Given the description of an element on the screen output the (x, y) to click on. 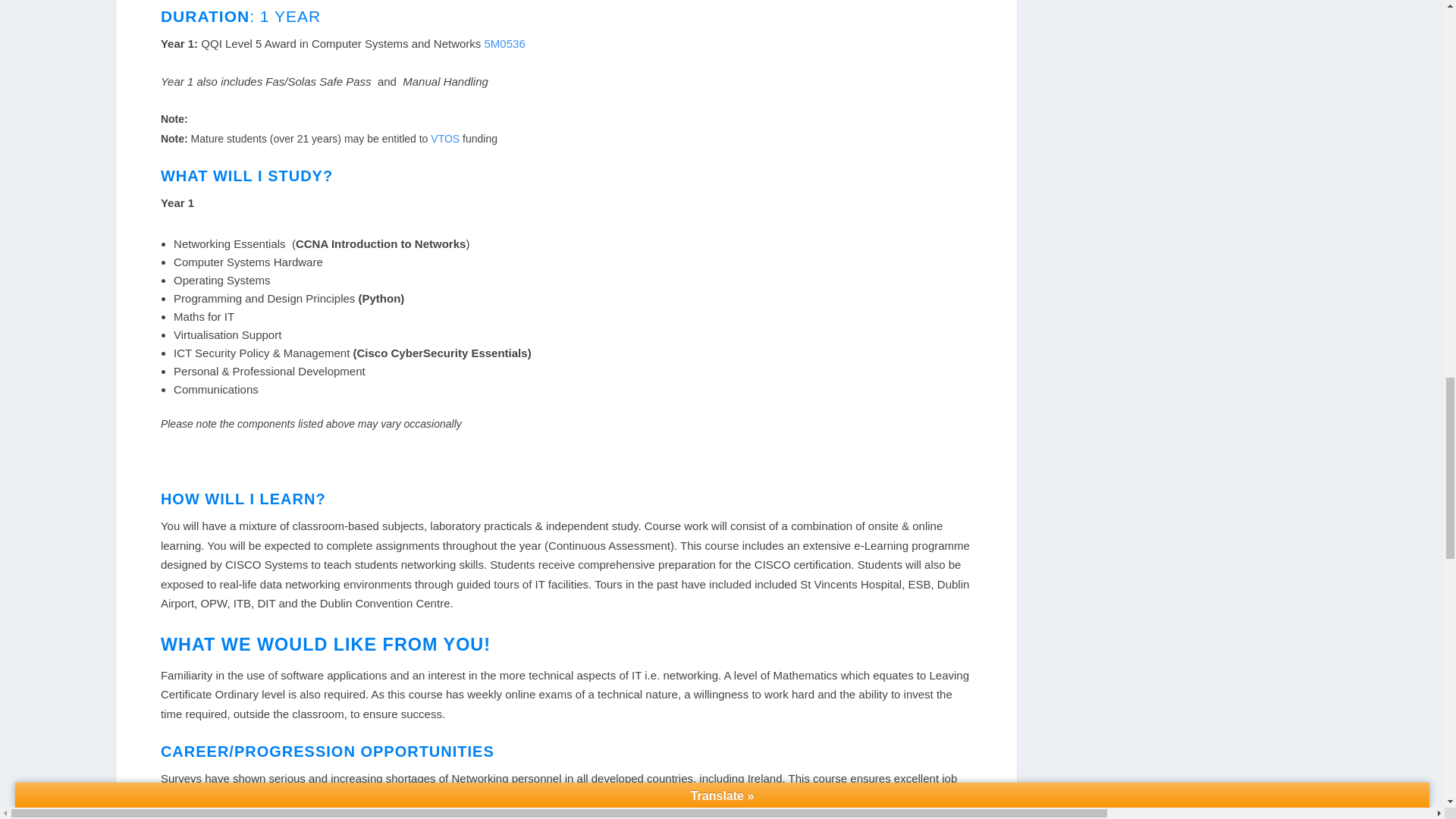
5M0536 (504, 42)
QQI Higher Education Links Scheme. (315, 814)
Higher Education Links Scheme (315, 814)
VTOS  (446, 138)
